Given the description of an element on the screen output the (x, y) to click on. 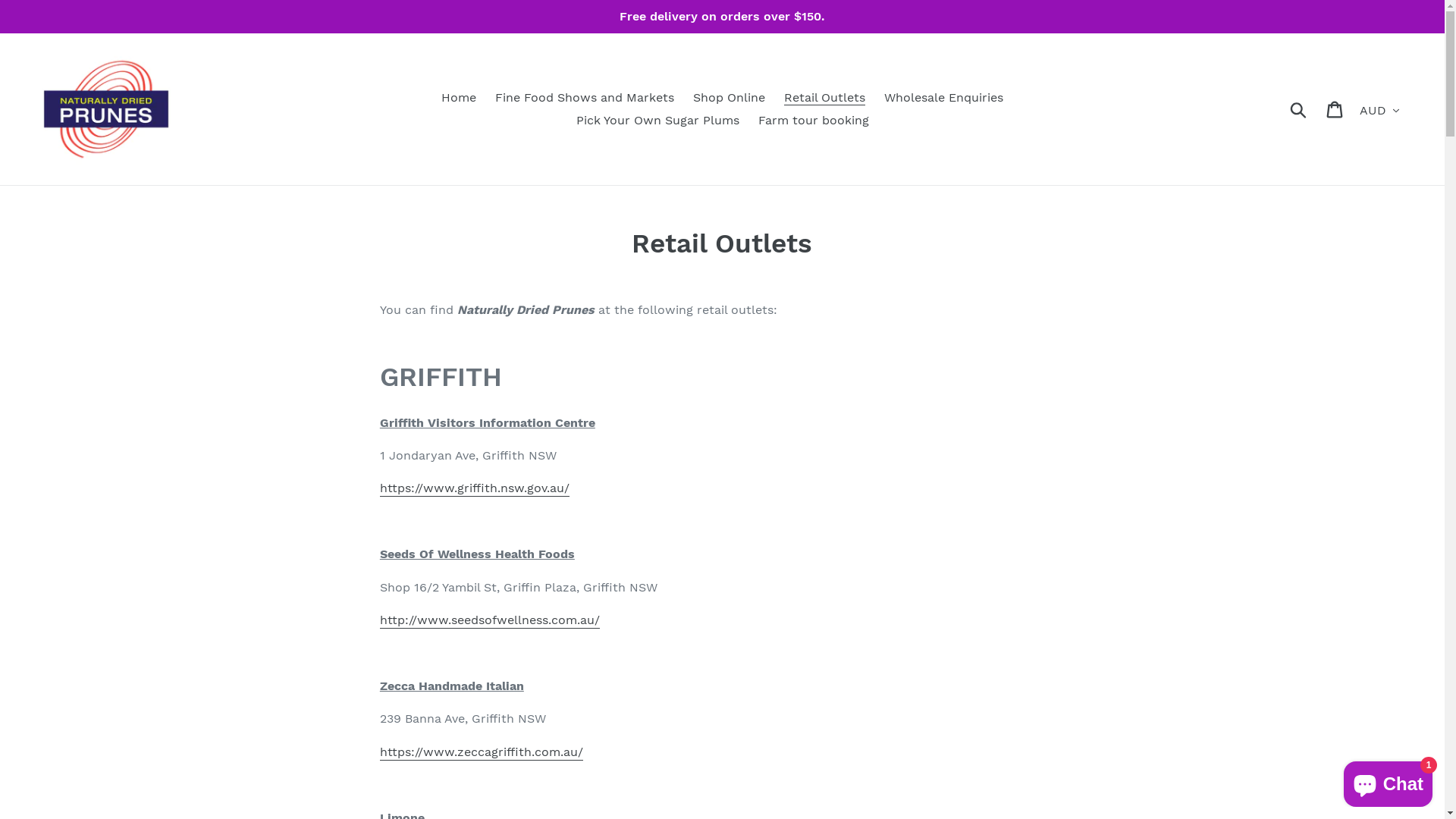
http://www.seedsofwellness.com.au/ Element type: text (489, 620)
Farm tour booking Element type: text (813, 120)
Retail Outlets Element type: text (824, 97)
Shop Online Element type: text (728, 97)
Fine Food Shows and Markets Element type: text (584, 97)
Submit Element type: text (1298, 108)
Home Element type: text (458, 97)
Pick Your Own Sugar Plums Element type: text (657, 120)
Shopify online store chat Element type: hover (1388, 780)
Cart Element type: text (1335, 109)
https://www.griffith.nsw.gov.au/ Element type: text (474, 488)
Wholesale Enquiries Element type: text (943, 97)
https://www.zeccagriffith.com.au/ Element type: text (481, 752)
